Given the description of an element on the screen output the (x, y) to click on. 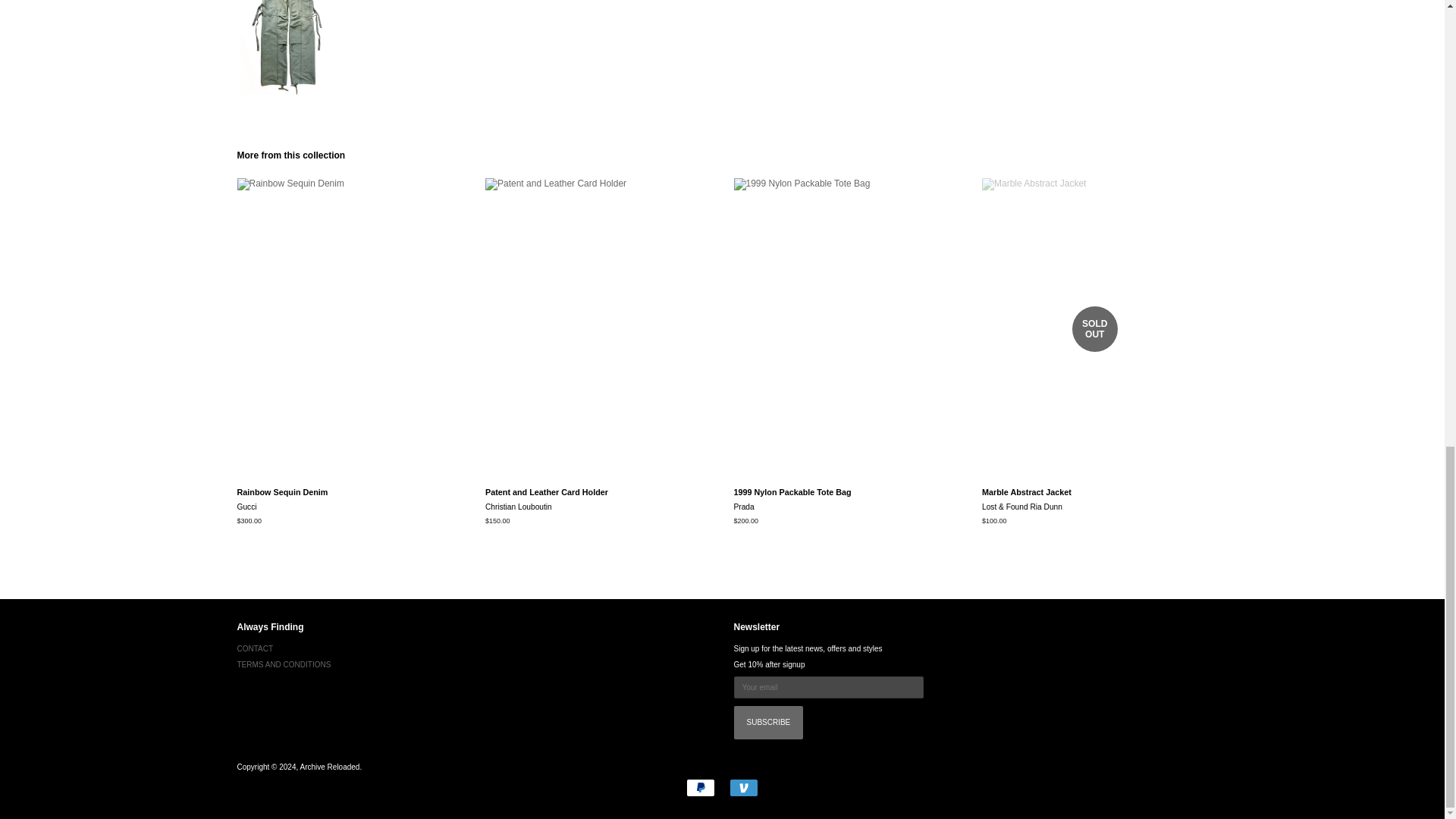
CONTACT (254, 648)
Venmo (743, 787)
Subscribe (768, 722)
PayPal (699, 787)
TERMS AND CONDITIONS (282, 664)
